Given the description of an element on the screen output the (x, y) to click on. 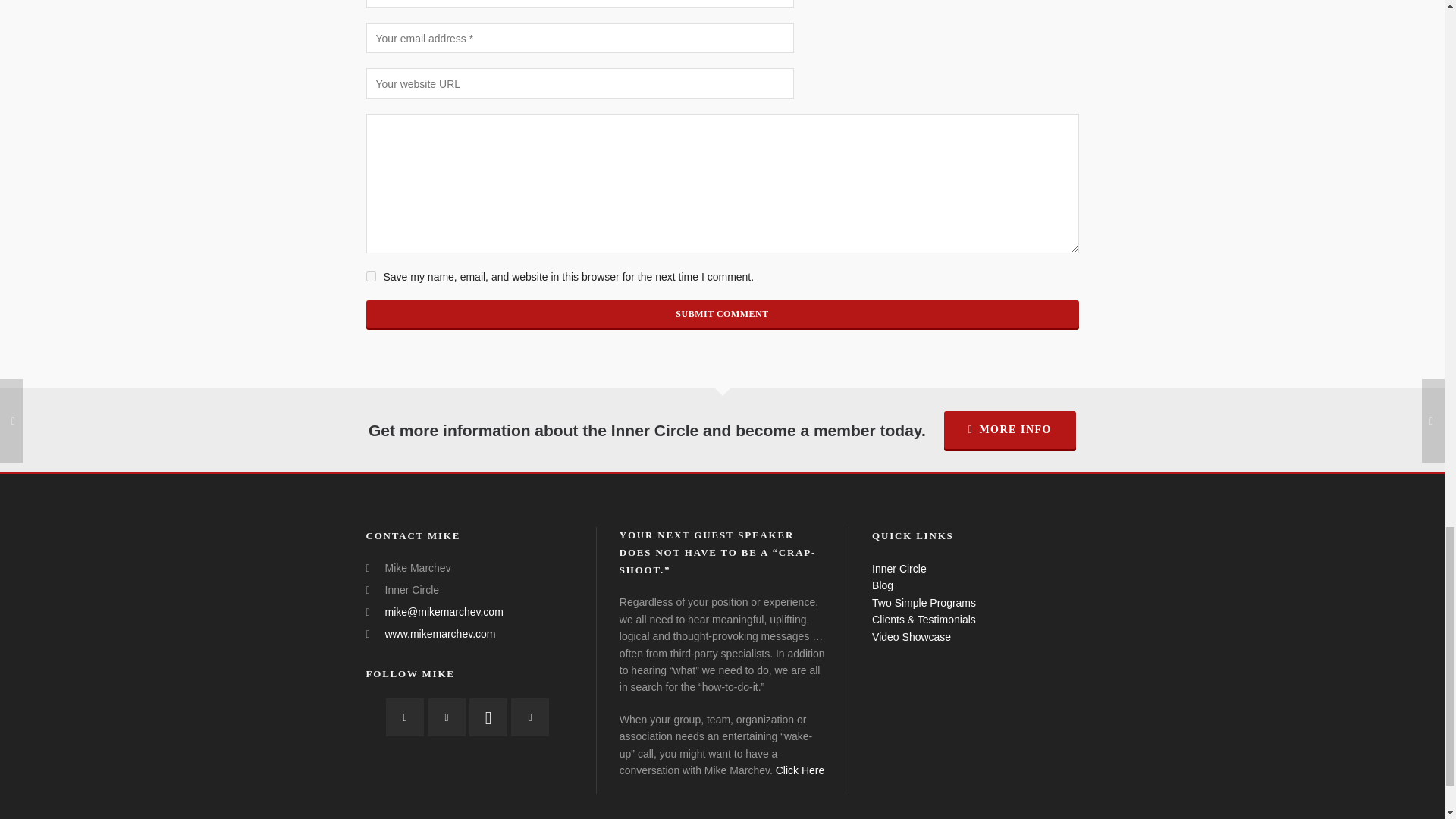
yes (370, 276)
Submit Comment (721, 313)
